Given the description of an element on the screen output the (x, y) to click on. 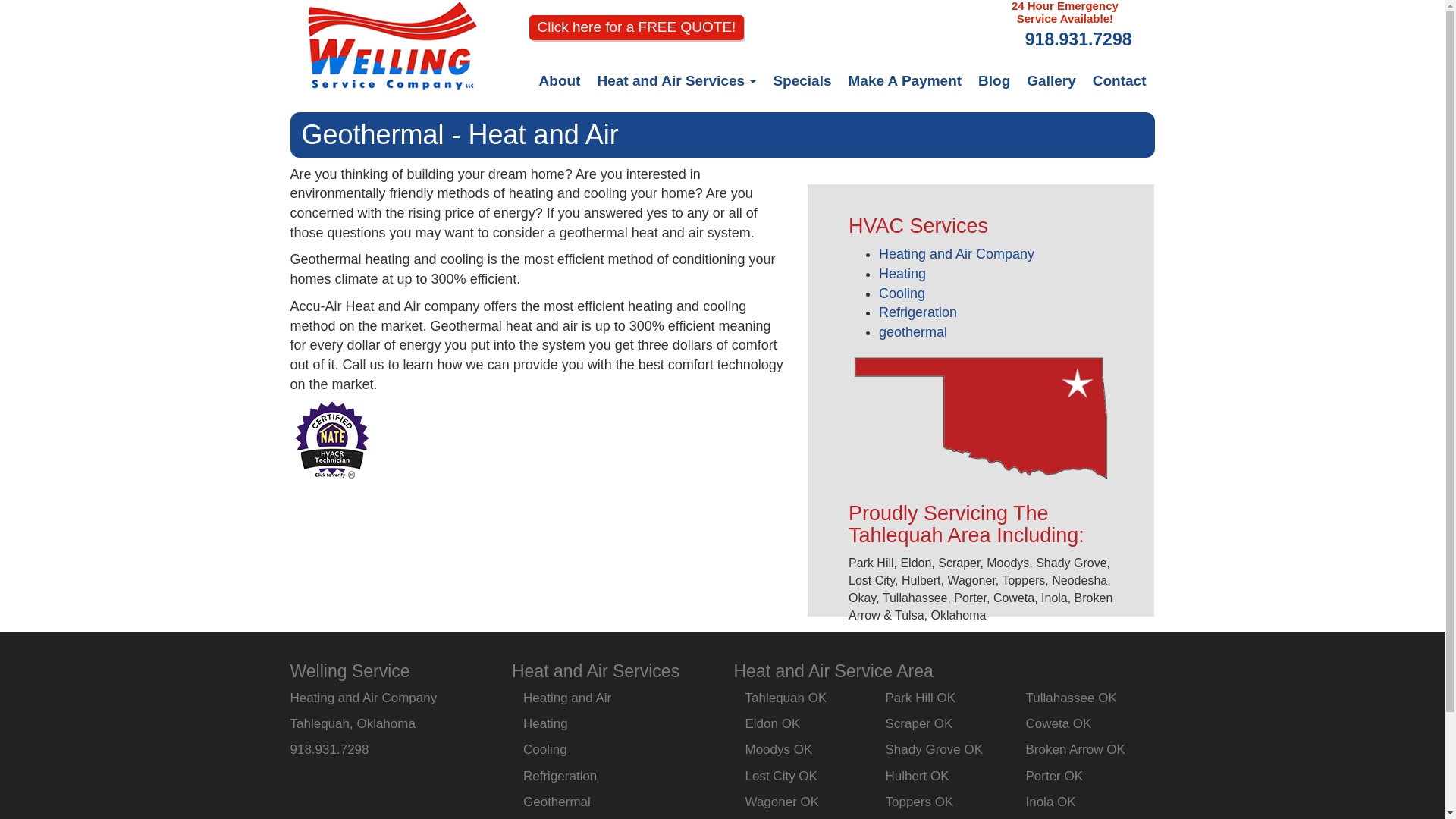
918.931.7298 (1078, 39)
Heating (544, 723)
Refrigeration (559, 775)
Cooling (544, 749)
Click here for a FREE QUOTE! (636, 27)
Cooling (901, 293)
Heat and Air Services (676, 81)
Gallery (1050, 81)
geothermal (913, 331)
Refrigeration (917, 312)
Heating and Air Company (956, 253)
Contact (1119, 81)
Heating (902, 273)
Specials (802, 81)
Geothermal (556, 801)
